Given the description of an element on the screen output the (x, y) to click on. 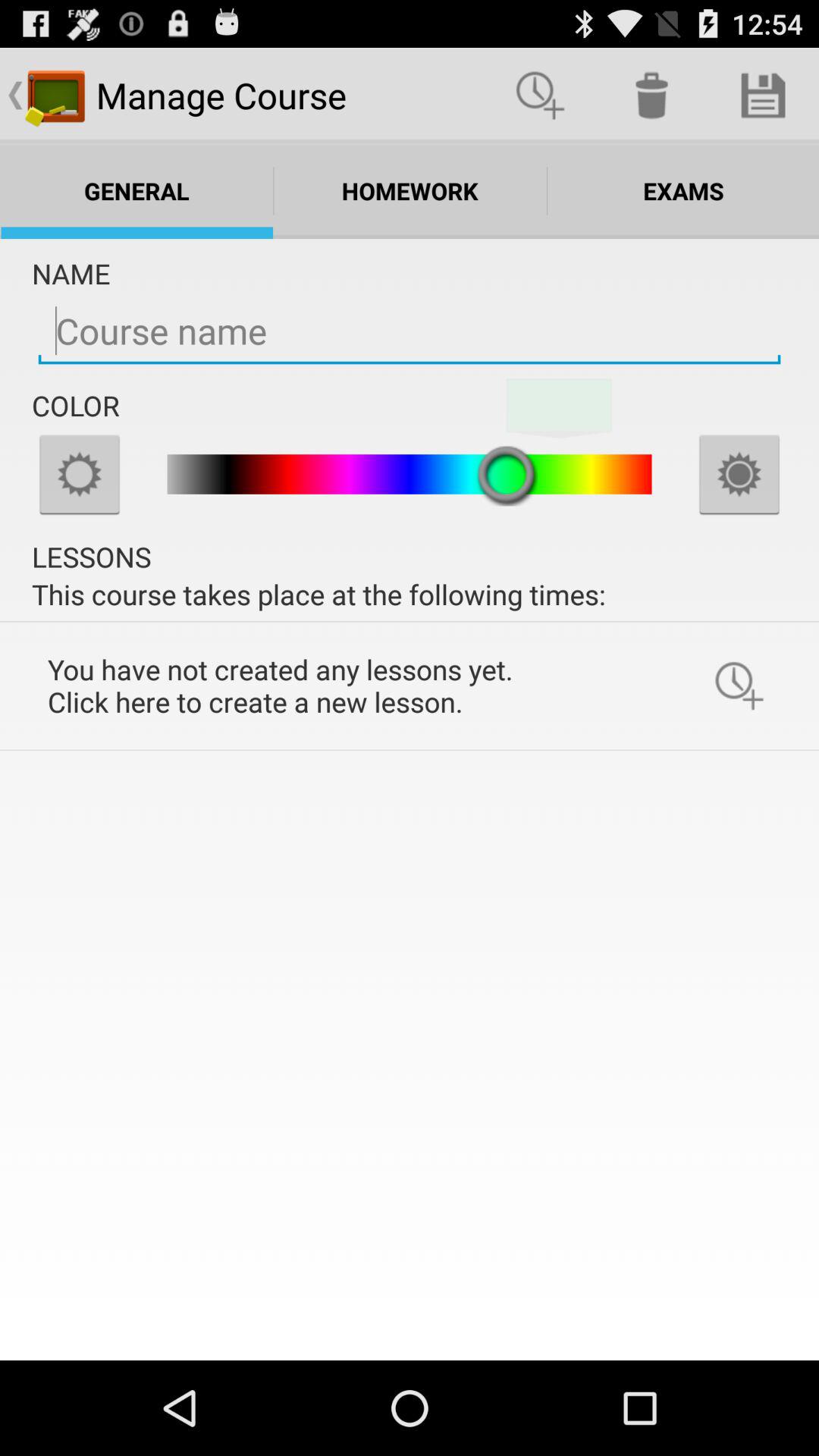
increase brightness (739, 474)
